Given the description of an element on the screen output the (x, y) to click on. 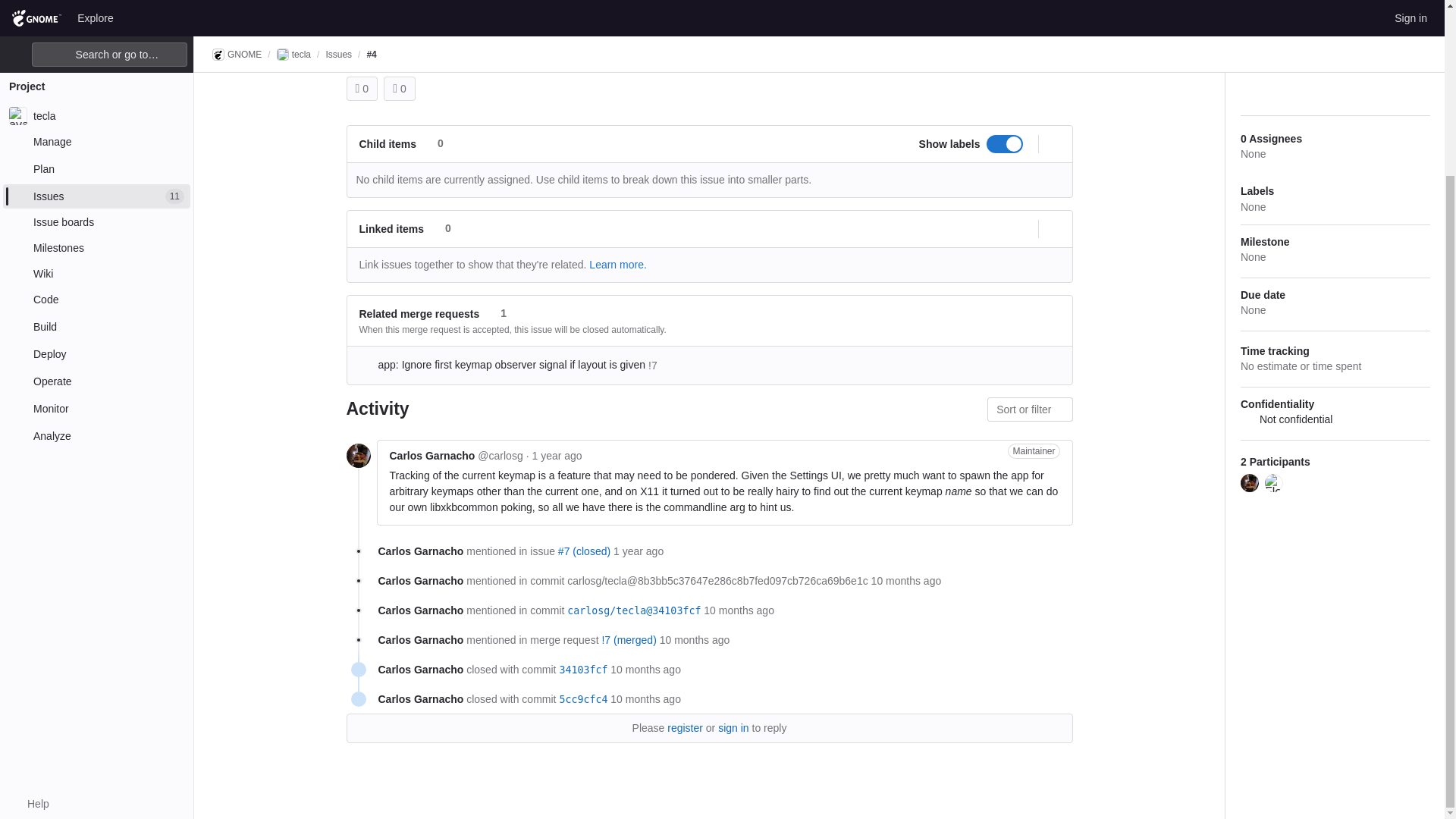
thumbs down sign (395, 88)
app: Ignore first keymap observer signal if layout is given (633, 609)
Deploy (96, 140)
Issue boards (96, 10)
Code (96, 86)
Build (96, 113)
thumbs up sign (357, 88)
Wiki (96, 60)
Milestones (96, 34)
app: Ignore first keymap observer signal if layout is given (628, 639)
Operate (96, 168)
Monitor (96, 195)
This user has the maintainer role in the tecla project. (1033, 450)
